Given the description of an element on the screen output the (x, y) to click on. 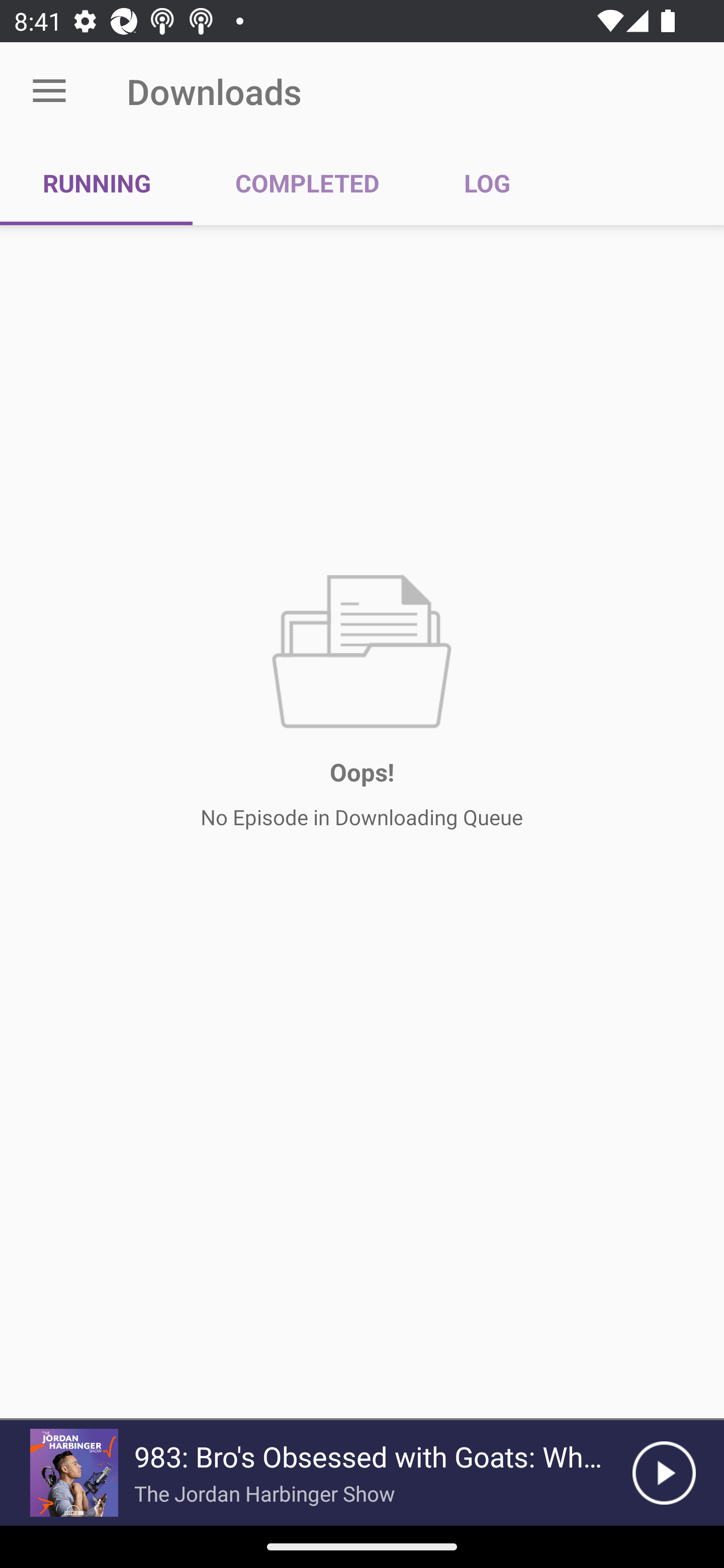
Open menu (49, 91)
RUNNING (96, 183)
COMPLETED (306, 183)
LOG (486, 183)
Play (663, 1472)
